Given the description of an element on the screen output the (x, y) to click on. 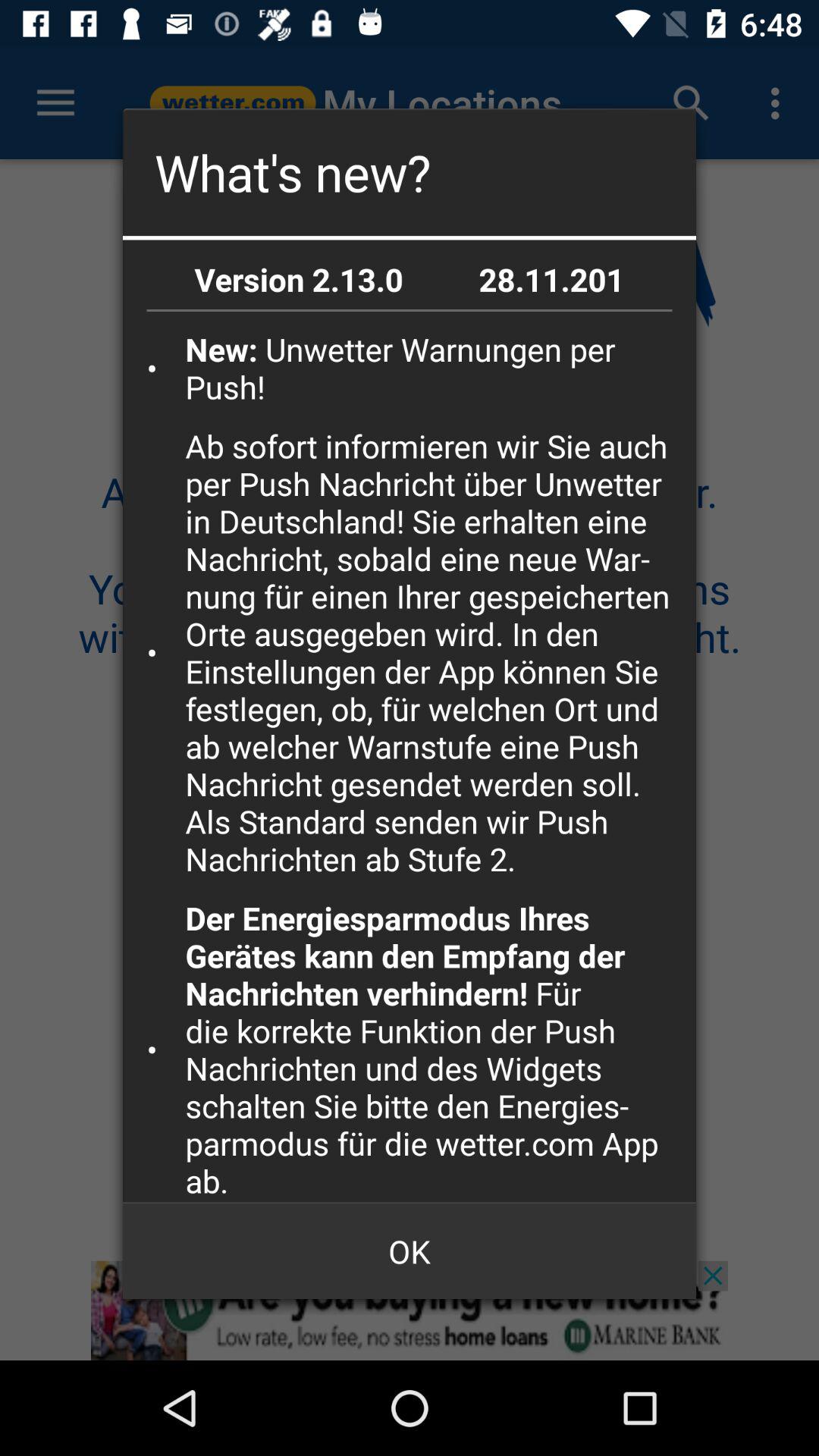
tap the der energiesparmodus ihres item (435, 1049)
